Given the description of an element on the screen output the (x, y) to click on. 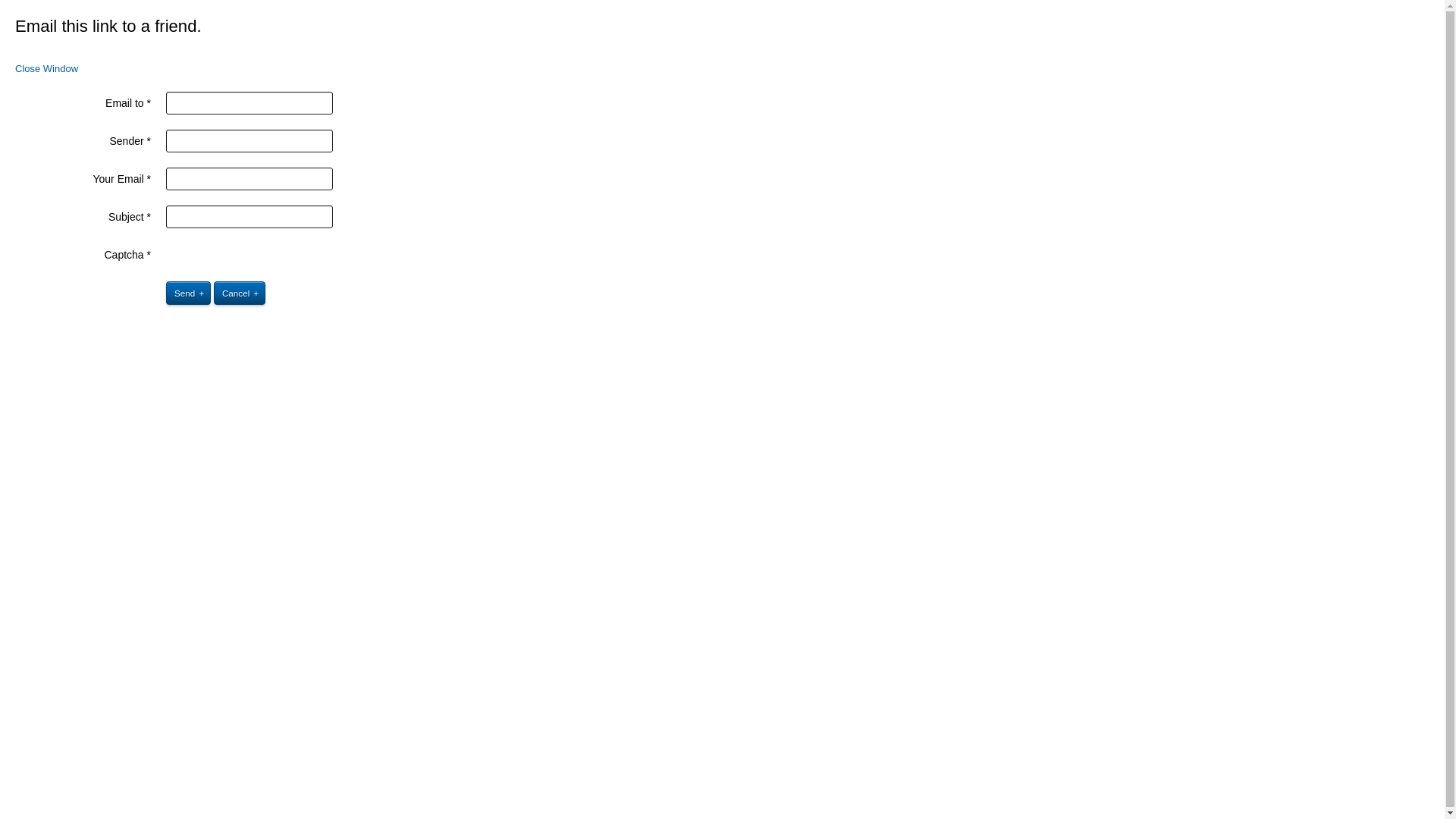
Cancel Element type: text (239, 292)
Close Window Element type: text (46, 68)
Send Element type: text (188, 292)
